Given the description of an element on the screen output the (x, y) to click on. 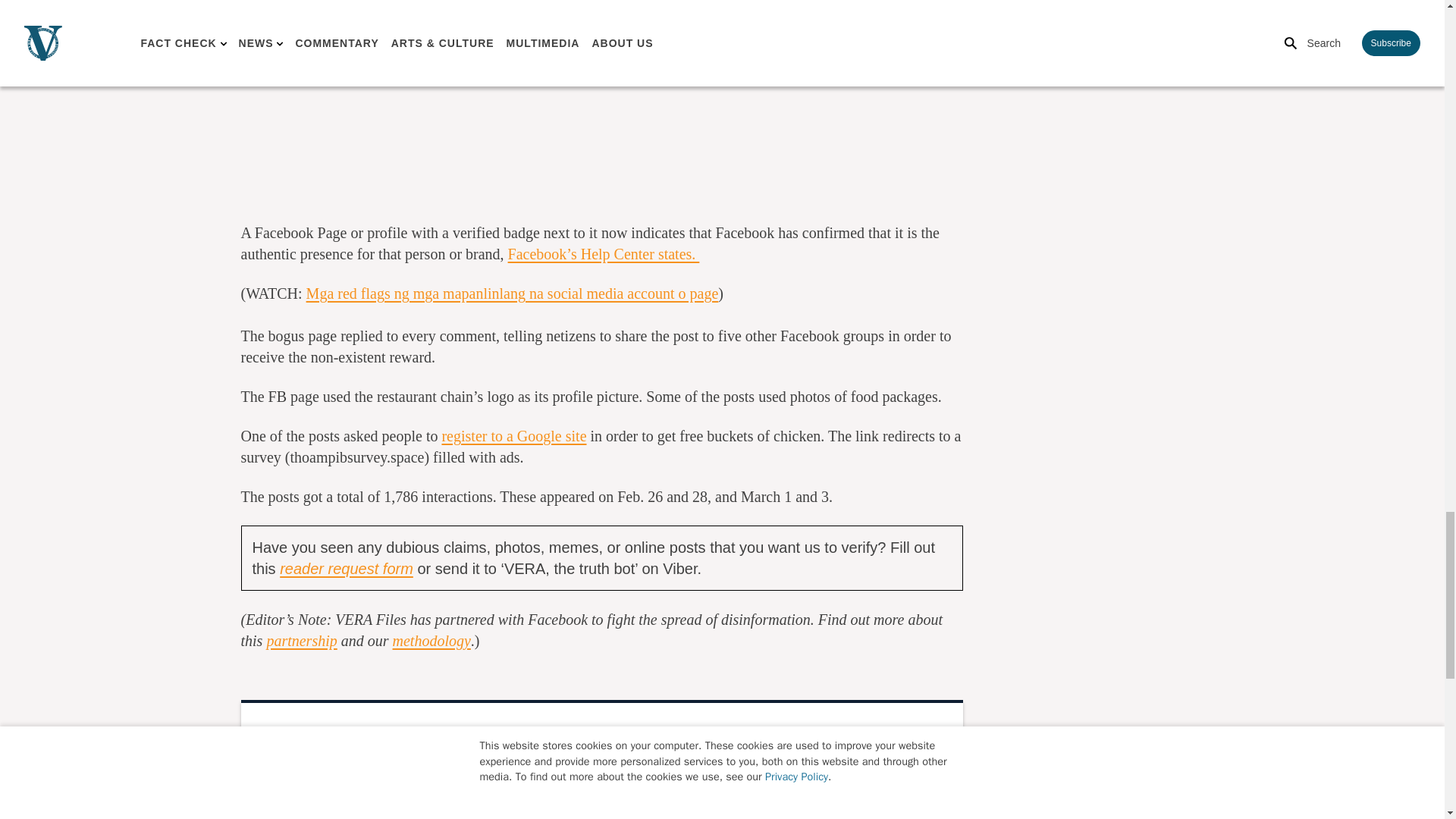
SUBSCRIBE (826, 812)
